Given the description of an element on the screen output the (x, y) to click on. 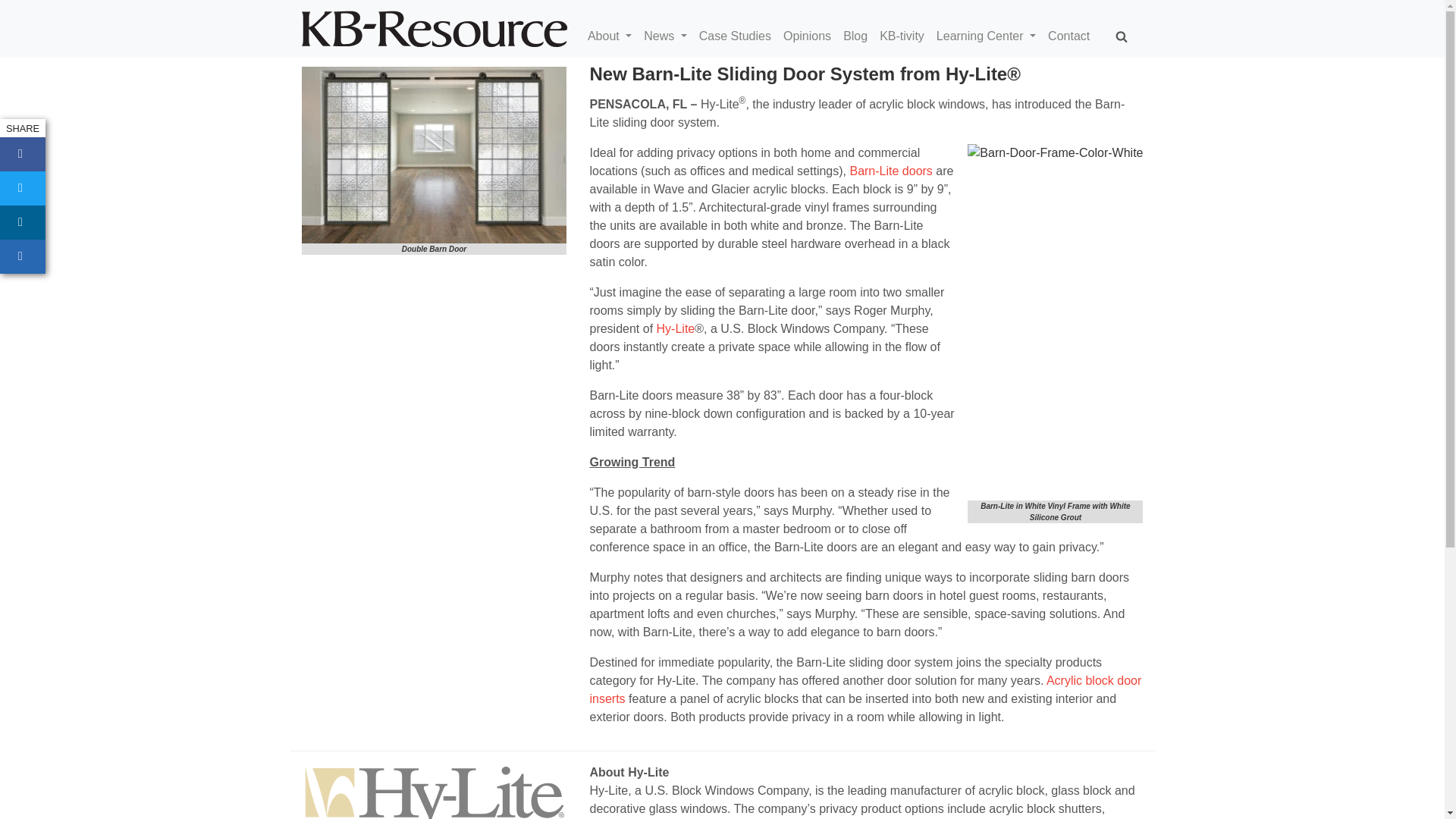
Learning Center (992, 35)
Acrylic block door inserts (865, 689)
Opinions (813, 35)
KB-tivity (907, 35)
Case Studies (740, 35)
Blog (861, 35)
Contact (1075, 35)
Hy-Lite (675, 328)
Barn-Lite doors (889, 170)
News (670, 35)
